Given the description of an element on the screen output the (x, y) to click on. 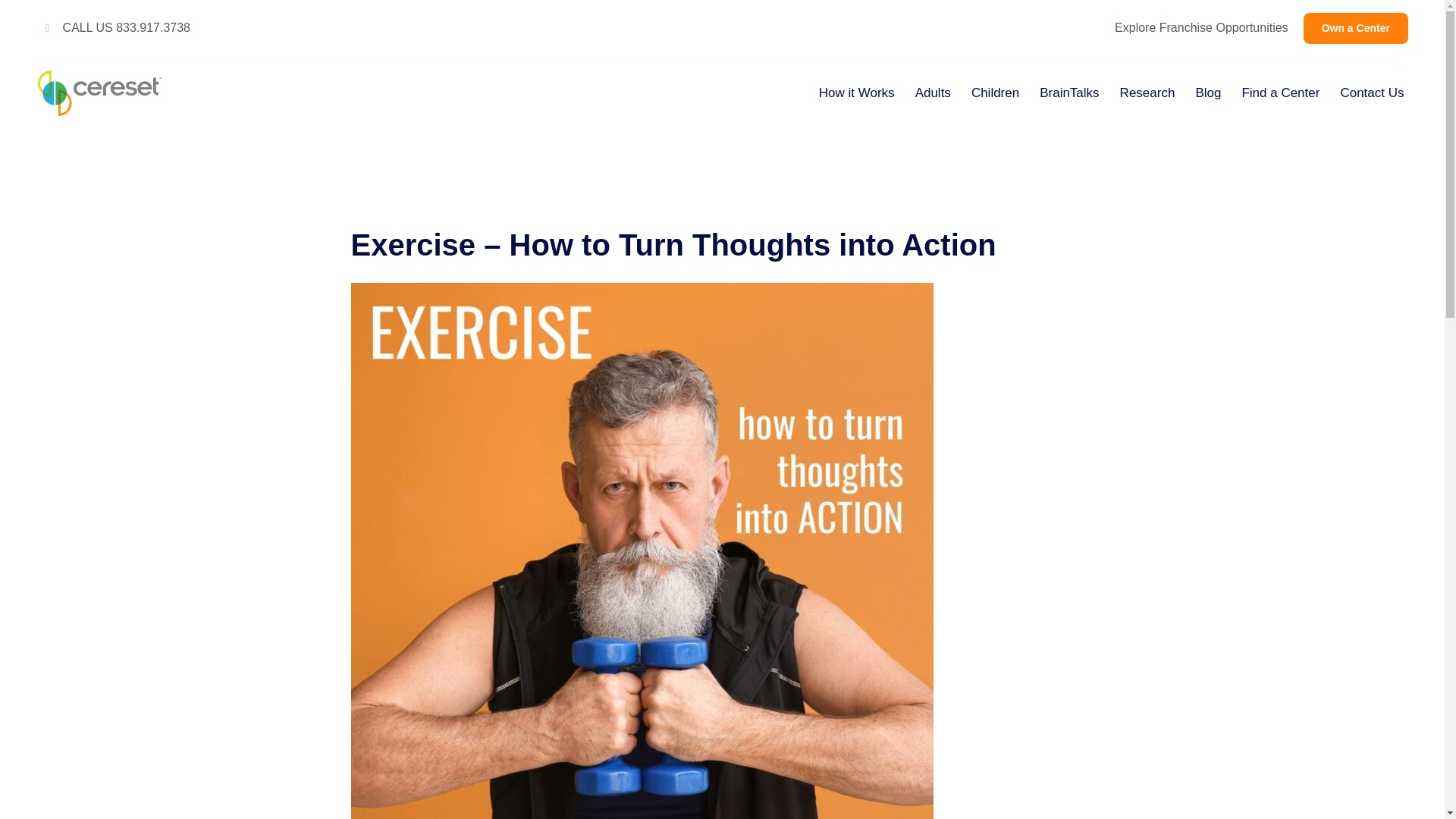
Research (1146, 92)
Find a Center (1280, 92)
Own a Center (1355, 28)
How it Works (856, 92)
Contact Us (1371, 92)
Adults (932, 92)
BrainTalks (1069, 92)
Children (995, 92)
CALL US 833.917.3738 (117, 28)
